Given the description of an element on the screen output the (x, y) to click on. 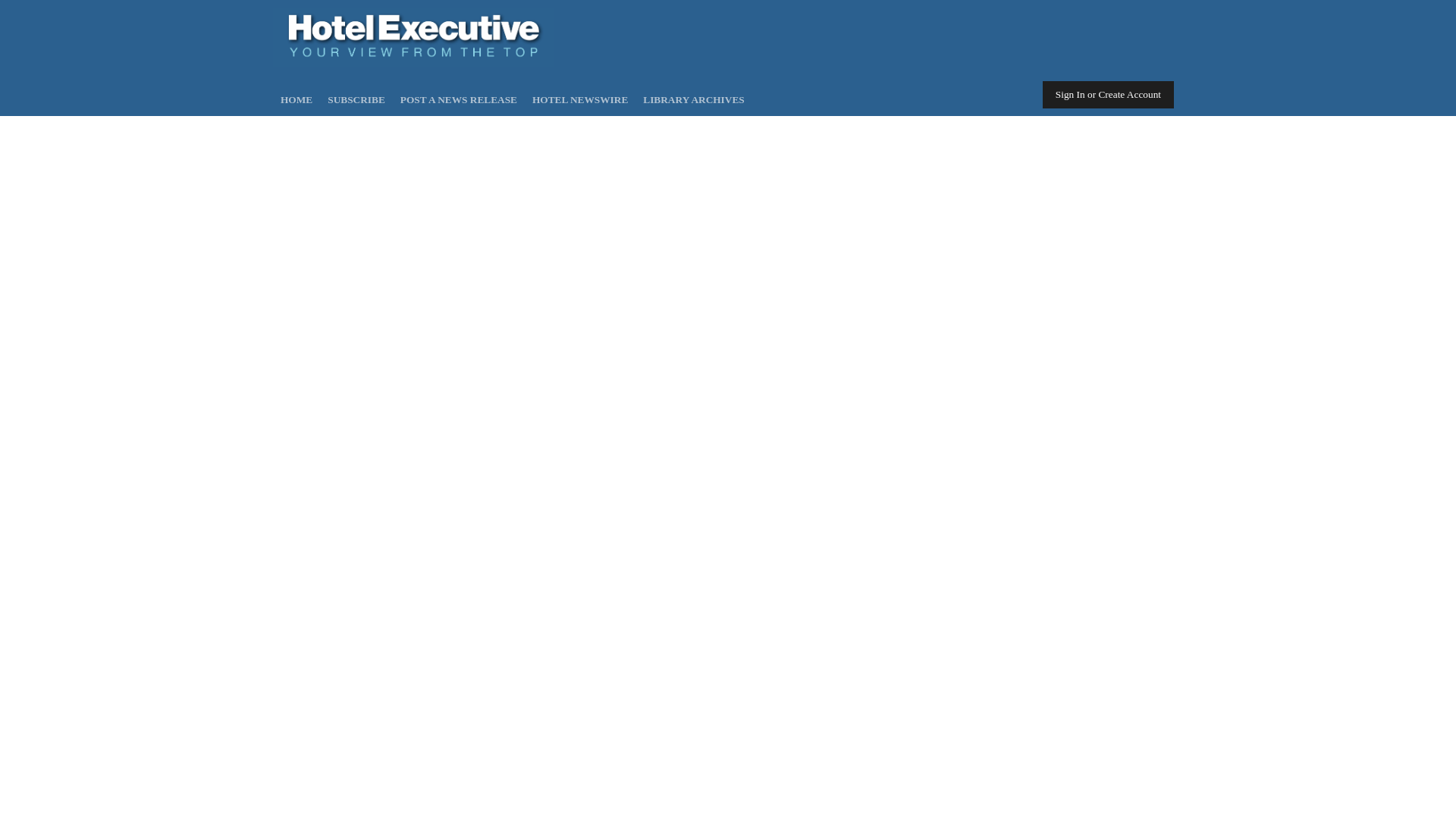
POST A NEWS RELEASE (458, 99)
HOTEL BUSINESS REVIEW: Articles for Hotel Executives (413, 62)
SUBSCRIBE (356, 99)
LIBRARY ARCHIVES (693, 99)
HOTEL NEWSWIRE (579, 99)
Sign In or Create Account (1107, 94)
HOME (297, 99)
